Given the description of an element on the screen output the (x, y) to click on. 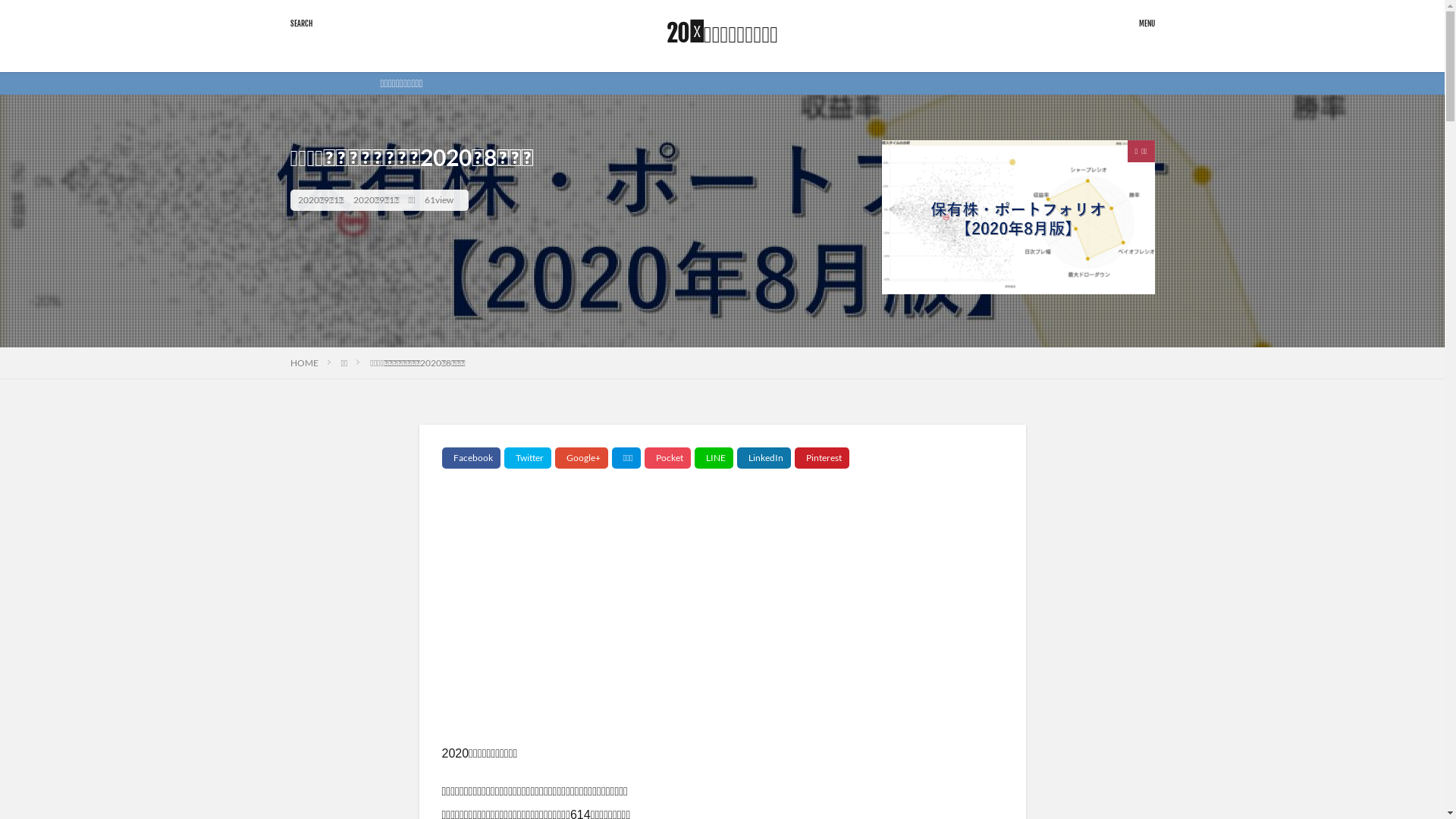
Advertisement Element type: hover (721, 620)
Facebook Element type: hover (470, 457)
HOME Element type: text (303, 361)
LINE Element type: hover (713, 457)
Pinterest Element type: hover (821, 457)
Twitter Element type: hover (526, 457)
Pocket Element type: hover (667, 457)
Google+ Element type: hover (581, 457)
LinkedIn Element type: hover (763, 457)
